Given the description of an element on the screen output the (x, y) to click on. 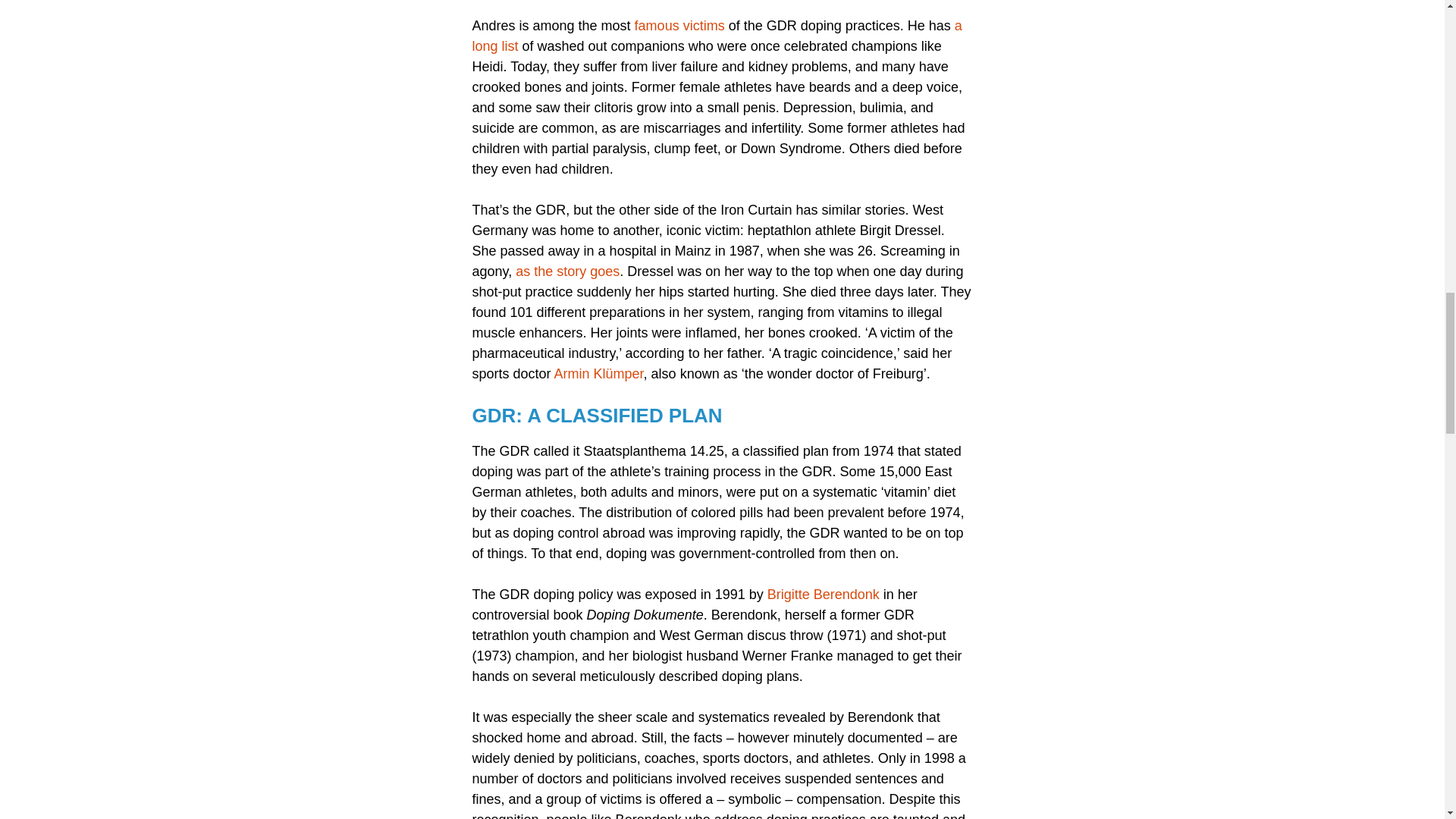
famous victims (679, 25)
Brigitte Berendonk (823, 594)
a long list (715, 36)
as the story goes (567, 271)
